Given the description of an element on the screen output the (x, y) to click on. 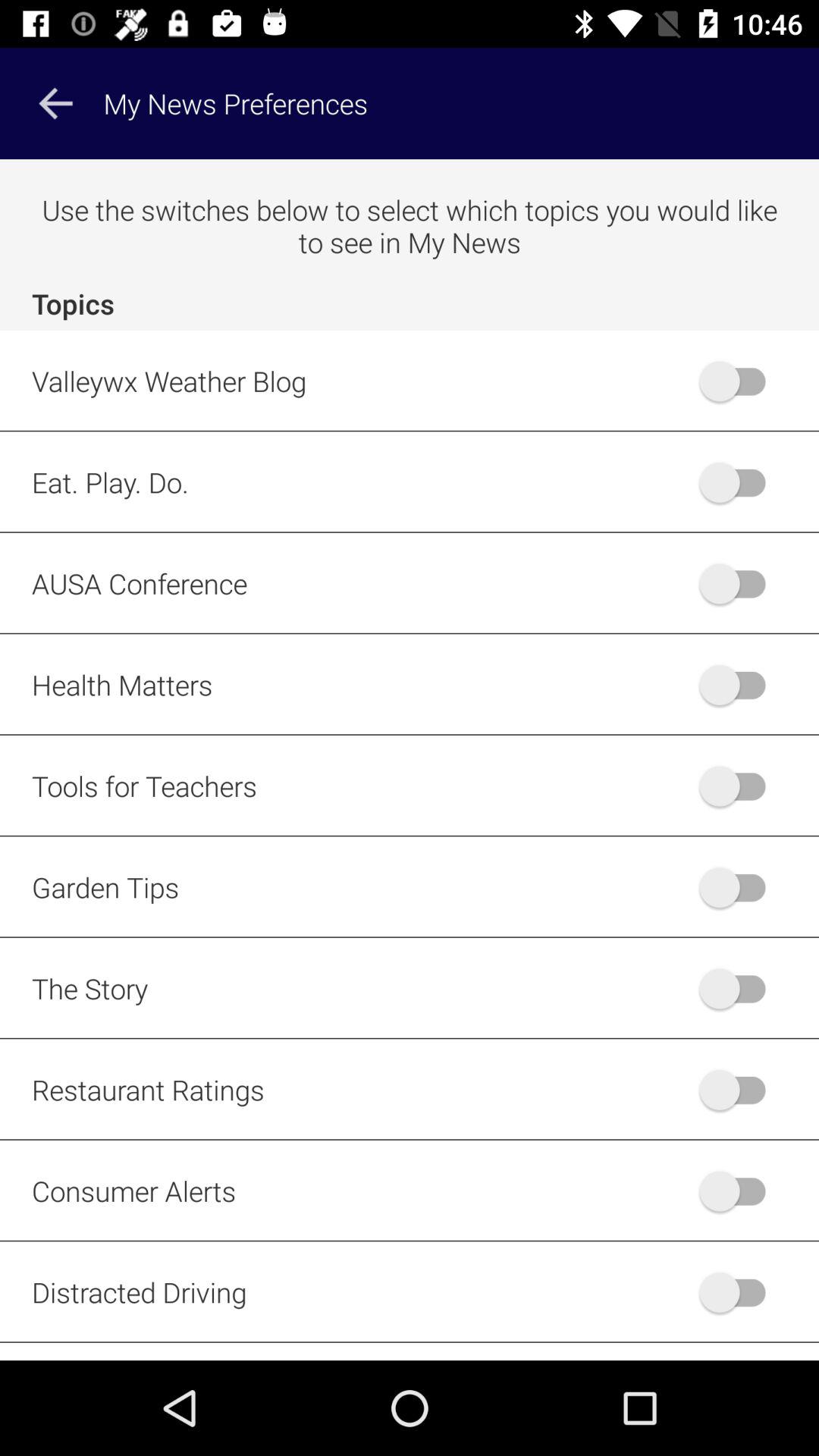
ausa slider (739, 583)
